Given the description of an element on the screen output the (x, y) to click on. 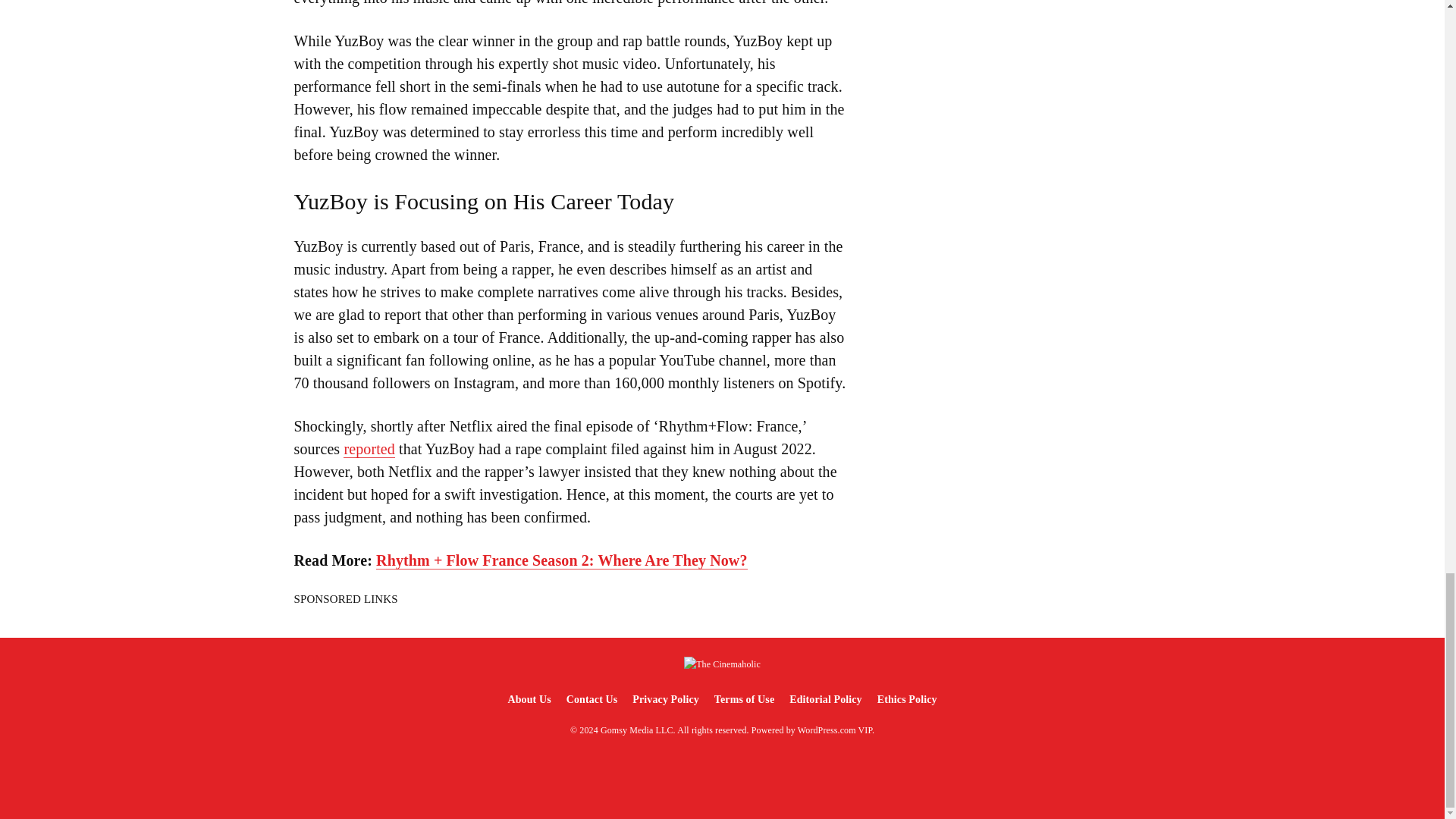
reported (368, 448)
About Us (528, 699)
Terms of Use (743, 699)
Editorial Policy (825, 699)
Ethics Policy (906, 699)
WordPress.com VIP (834, 729)
Privacy Policy (665, 699)
Contact Us (592, 699)
